Given the description of an element on the screen output the (x, y) to click on. 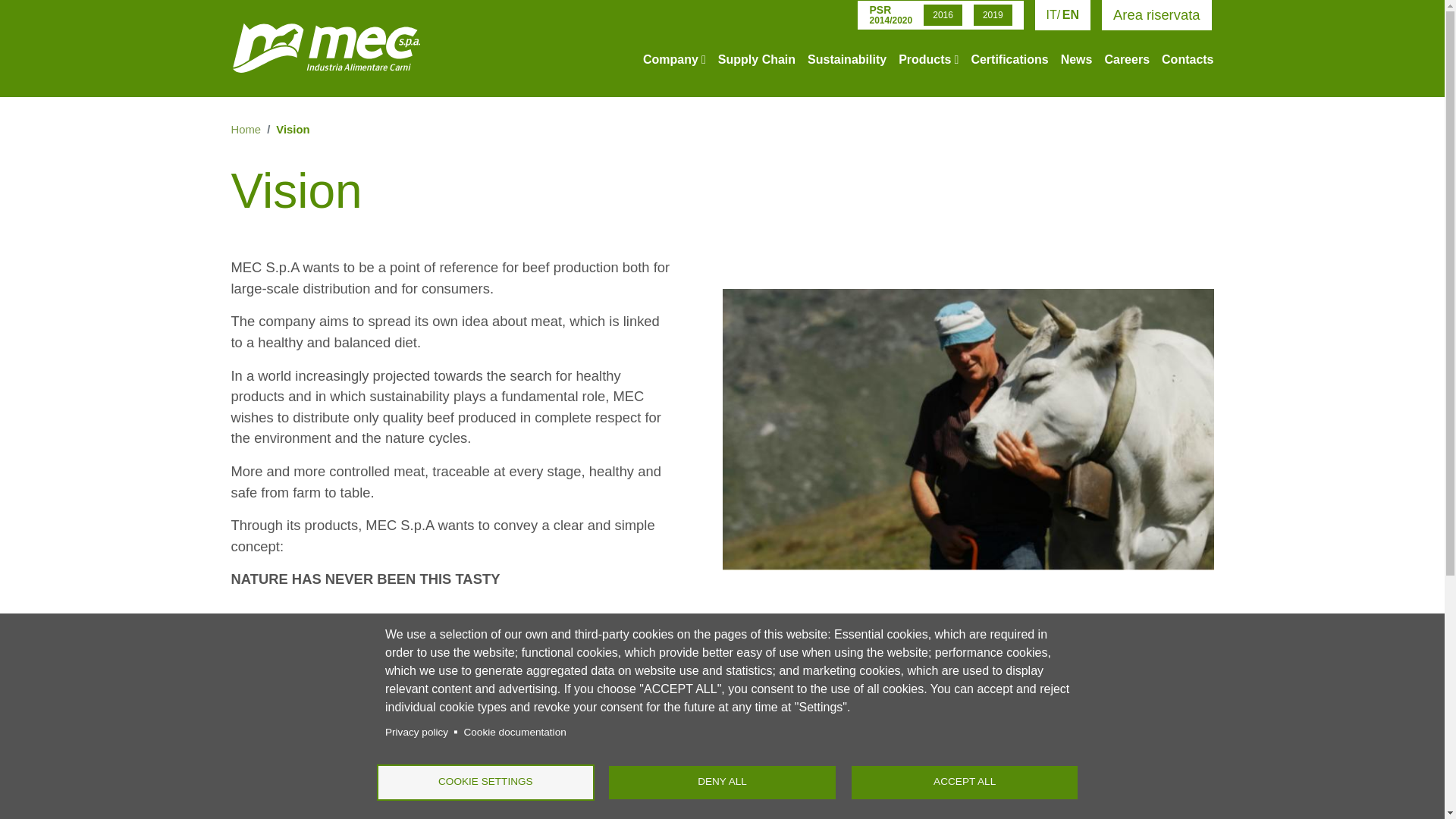
2019 (992, 14)
Supply Chain (755, 56)
Home (325, 56)
ACCEPT ALL (965, 782)
Products (928, 56)
Contacts (1186, 56)
COOKIE SETTINGS (484, 782)
IT (1053, 14)
2016 (942, 14)
Certifications (1009, 56)
DENY ALL (722, 782)
Cookie documentation (514, 731)
Sustainability (847, 56)
Privacy policy (416, 731)
Careers (1126, 56)
